Given the description of an element on the screen output the (x, y) to click on. 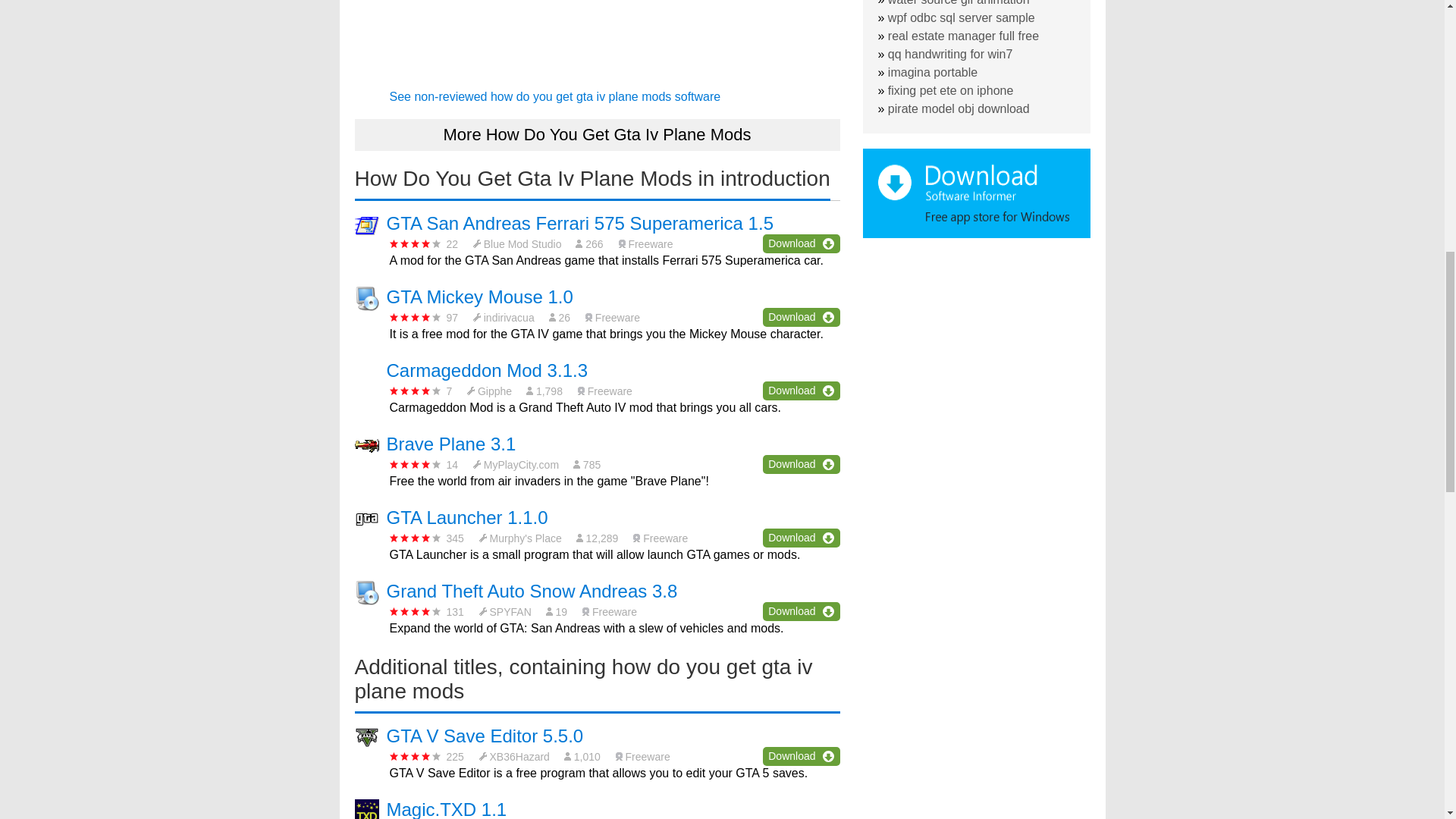
Download (801, 610)
GTA Launcher 1.1.0 (467, 516)
Carmageddon Mod 3.1.3 (487, 370)
Grand Theft Auto Snow Andreas 3.8 (532, 590)
Brave Plane 3.1 (451, 444)
See non-reviewed how do you get gta iv plane mods software (555, 96)
3.8 (415, 464)
3.8 (415, 756)
Carmageddon Mod 3.1.3 (487, 370)
Download (801, 755)
